Given the description of an element on the screen output the (x, y) to click on. 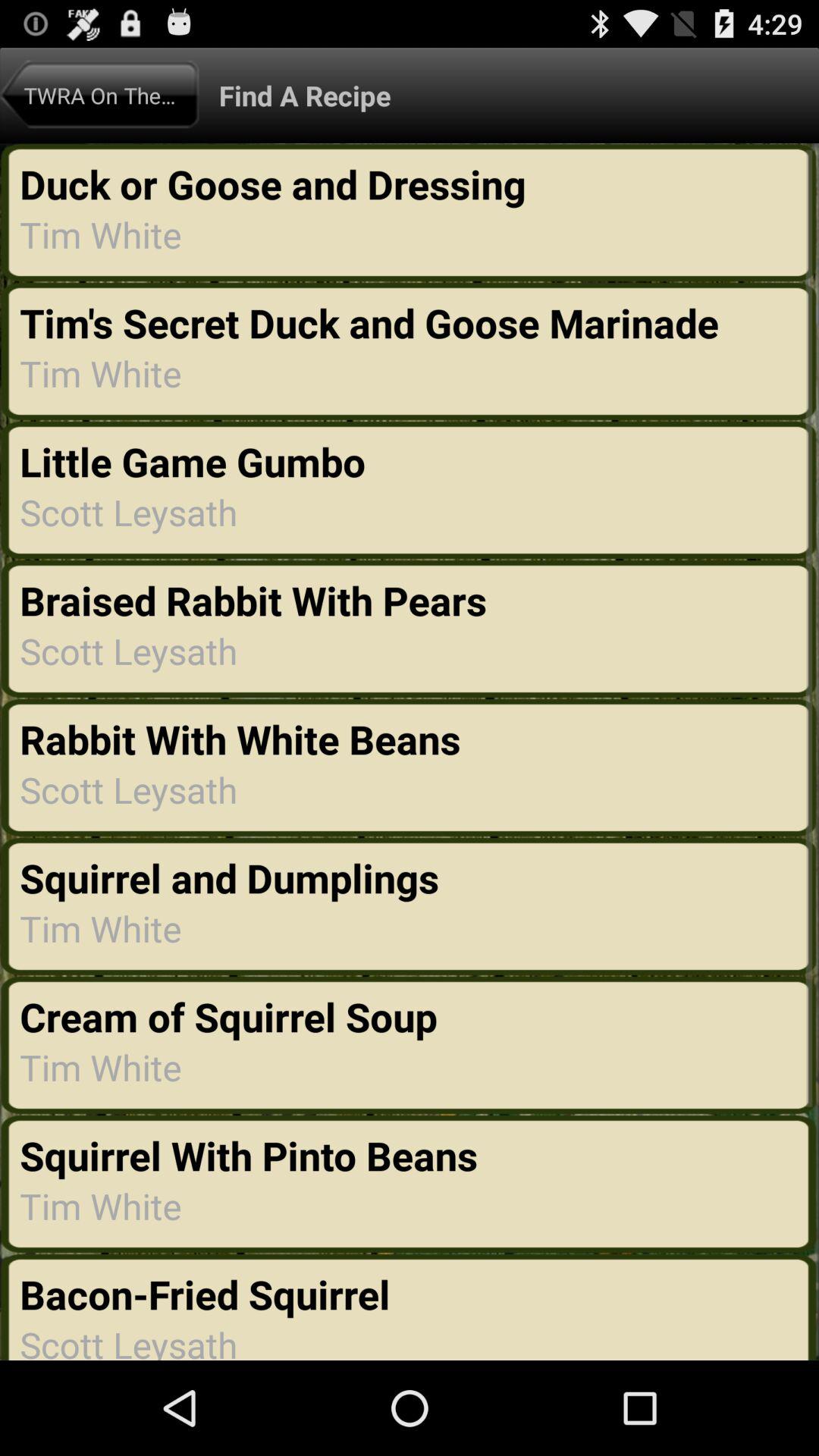
tap cream of squirrel app (233, 1016)
